Given the description of an element on the screen output the (x, y) to click on. 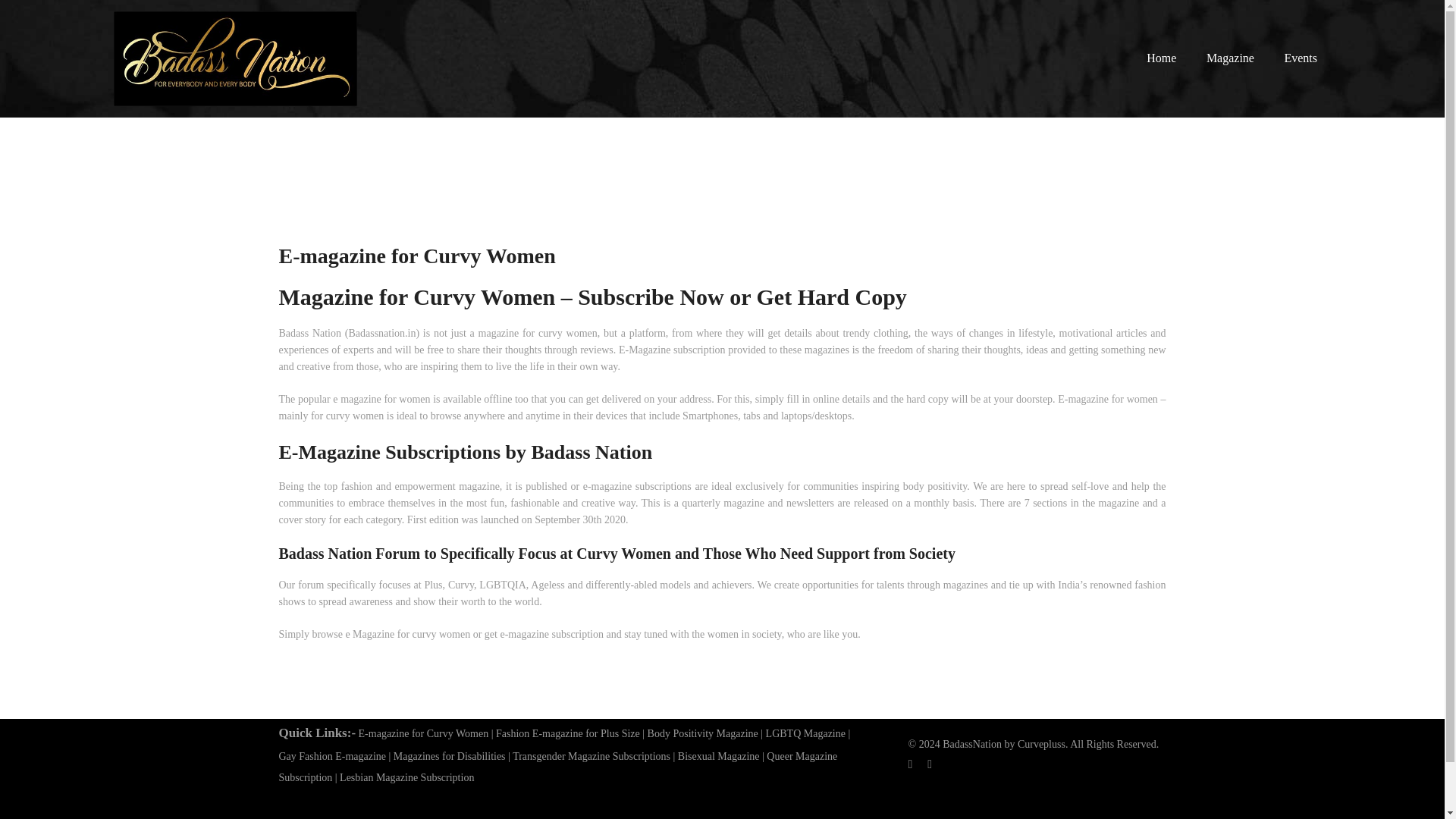
Body Positivity Magazine (702, 733)
E-magazine for Curvy Women (423, 733)
Magazines for Disabilities (449, 756)
E-magazine for Curvy Women (423, 733)
LGBTQ Magazine (805, 733)
Bisexual Magazine (719, 756)
Transgender Magazine Subscriptions (590, 756)
Gay Fashion E-magazine (333, 756)
Lesbian Magazine Subscription (406, 777)
LGBTQ Magazine (805, 733)
